Given the description of an element on the screen output the (x, y) to click on. 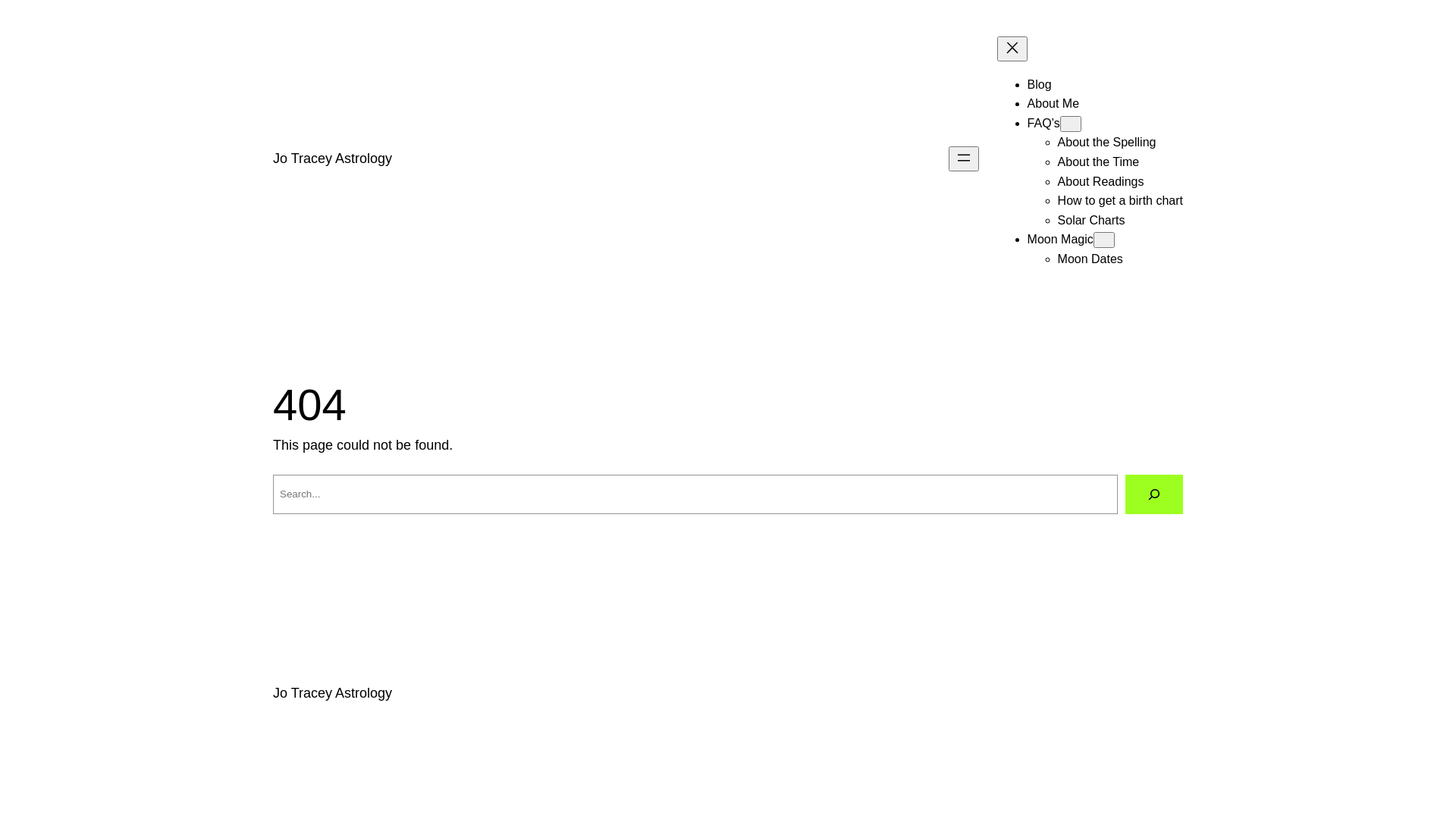
Blog Element type: text (1039, 84)
About Readings Element type: text (1100, 181)
Jo Tracey Astrology Element type: text (332, 158)
About the Spelling Element type: text (1106, 141)
Solar Charts Element type: text (1091, 219)
About the Time Element type: text (1098, 161)
About Me Element type: text (1053, 103)
How to get a birth chart Element type: text (1120, 200)
Moon Dates Element type: text (1090, 258)
Jo Tracey Astrology Element type: text (332, 692)
Moon Magic Element type: text (1060, 238)
